Given the description of an element on the screen output the (x, y) to click on. 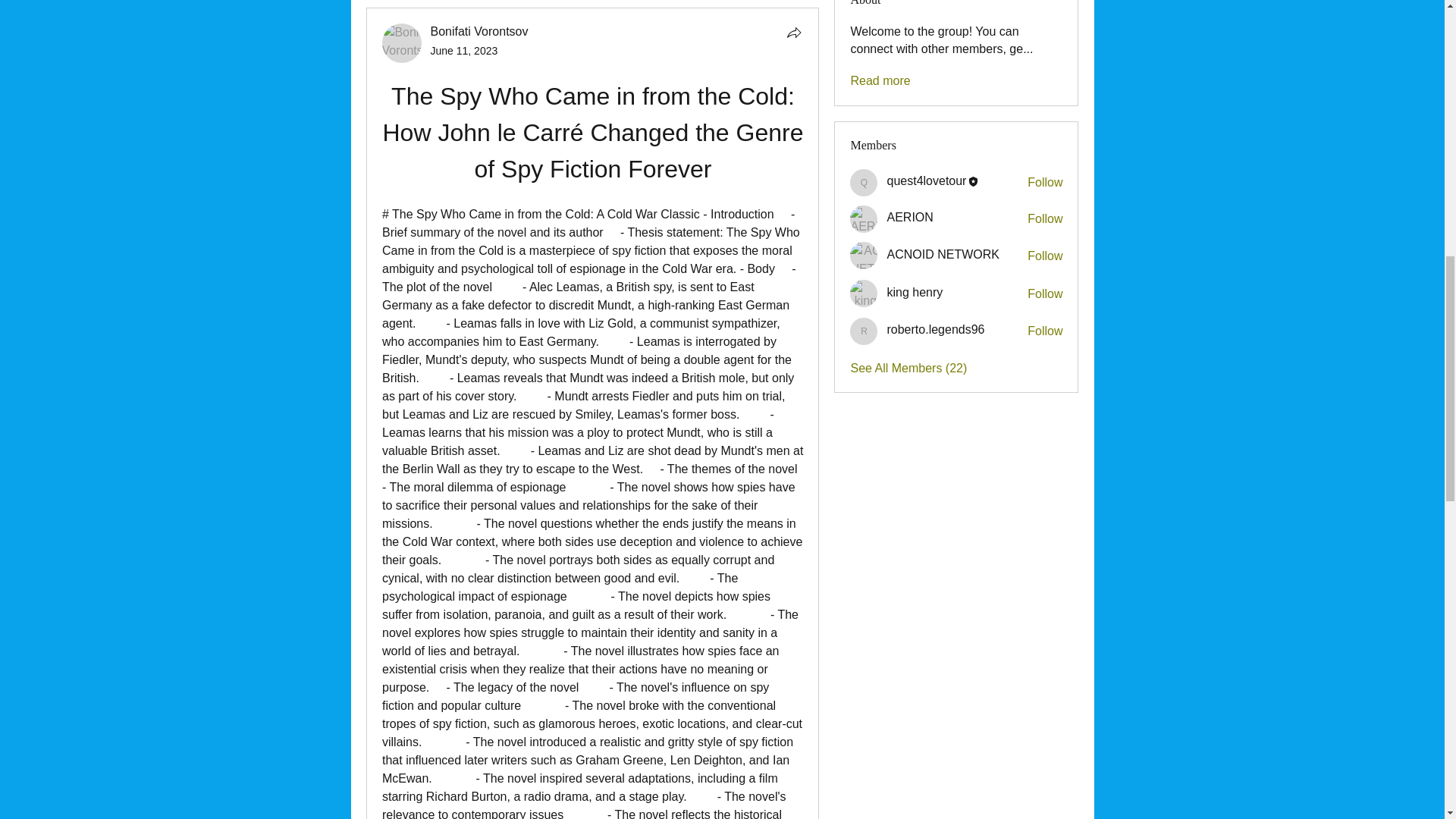
king henry (863, 293)
Follow (1044, 256)
roberto.legends96 (863, 330)
Follow (1044, 330)
quest4lovetour (863, 182)
Follow (1044, 218)
Bonifati Vorontsov (401, 43)
quest4lovetour (926, 180)
ACNOID NETWORK (863, 255)
June 11, 2023 (463, 50)
